Given the description of an element on the screen output the (x, y) to click on. 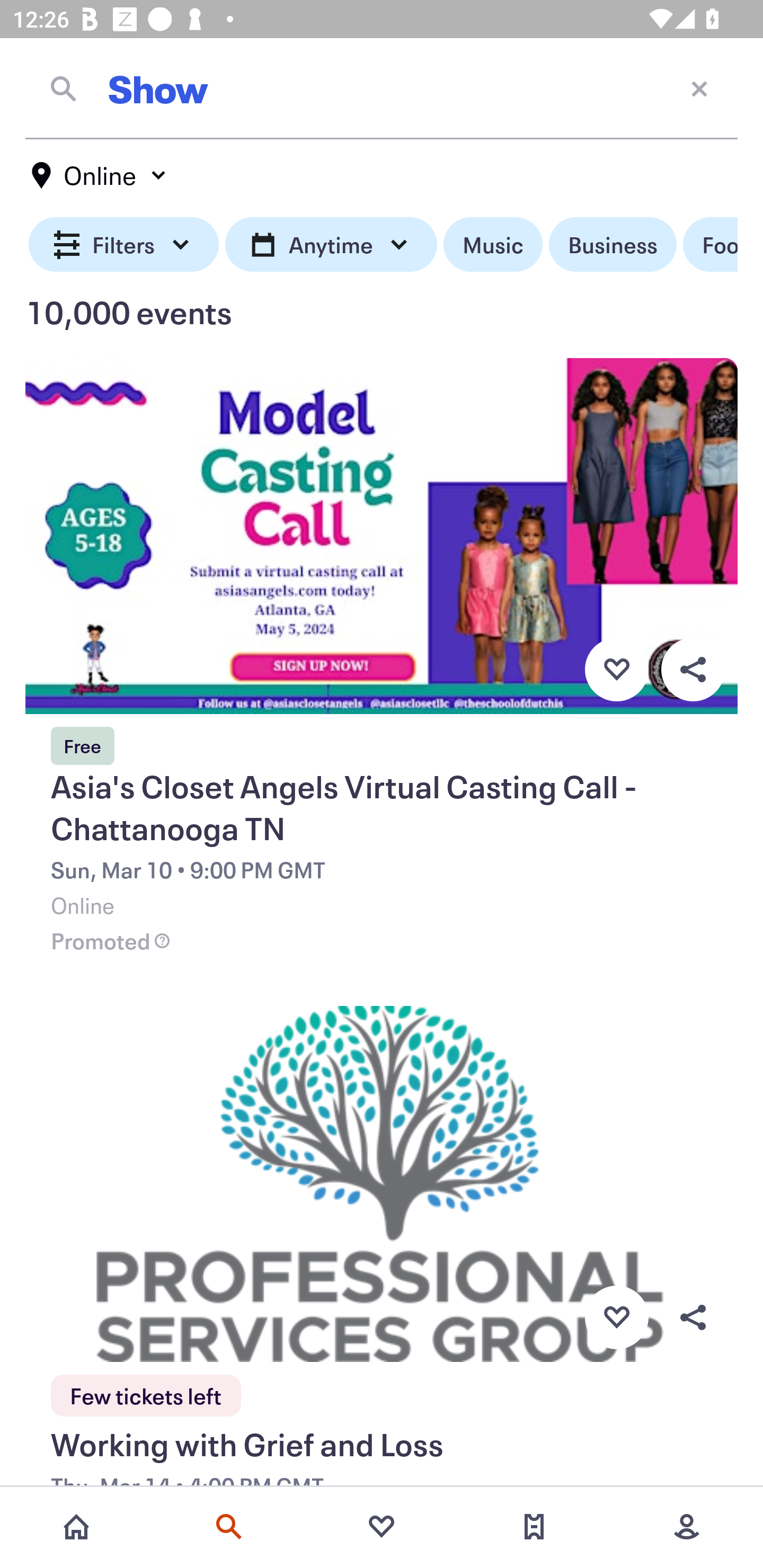
Show Close current screen (381, 88)
Close current screen (699, 88)
Online (99, 175)
Filters (123, 244)
Anytime (331, 244)
Music (492, 244)
Business (612, 244)
Favorite button (616, 669)
Overflow menu button (692, 669)
Favorite button (616, 1317)
Overflow menu button (692, 1317)
Home (76, 1526)
Search events (228, 1526)
Favorites (381, 1526)
Tickets (533, 1526)
More (686, 1526)
